Given the description of an element on the screen output the (x, y) to click on. 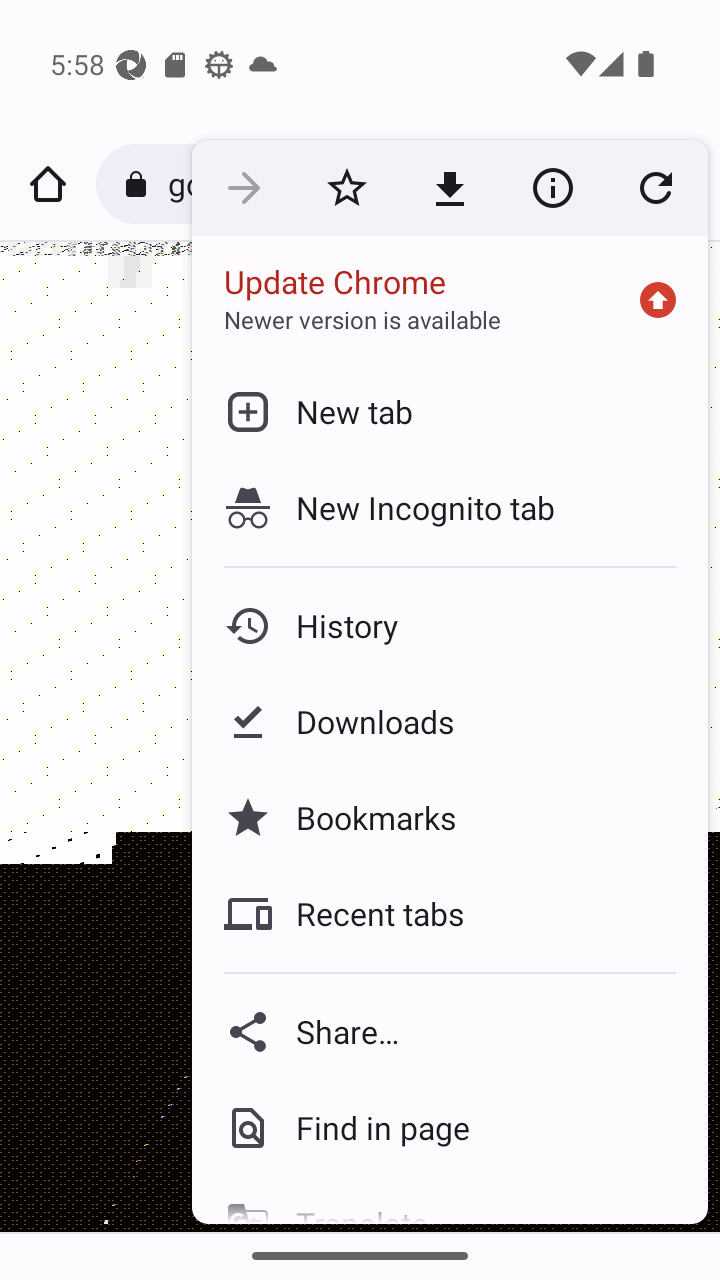
Forward (243, 187)
Bookmark (346, 187)
Download (449, 187)
Page info (552, 187)
Refresh (655, 187)
New tab (449, 411)
New Incognito tab (449, 507)
History (449, 626)
Downloads (449, 722)
Bookmarks (449, 818)
Recent tabs (449, 914)
Share… (449, 1032)
Find in page (449, 1128)
